Given the description of an element on the screen output the (x, y) to click on. 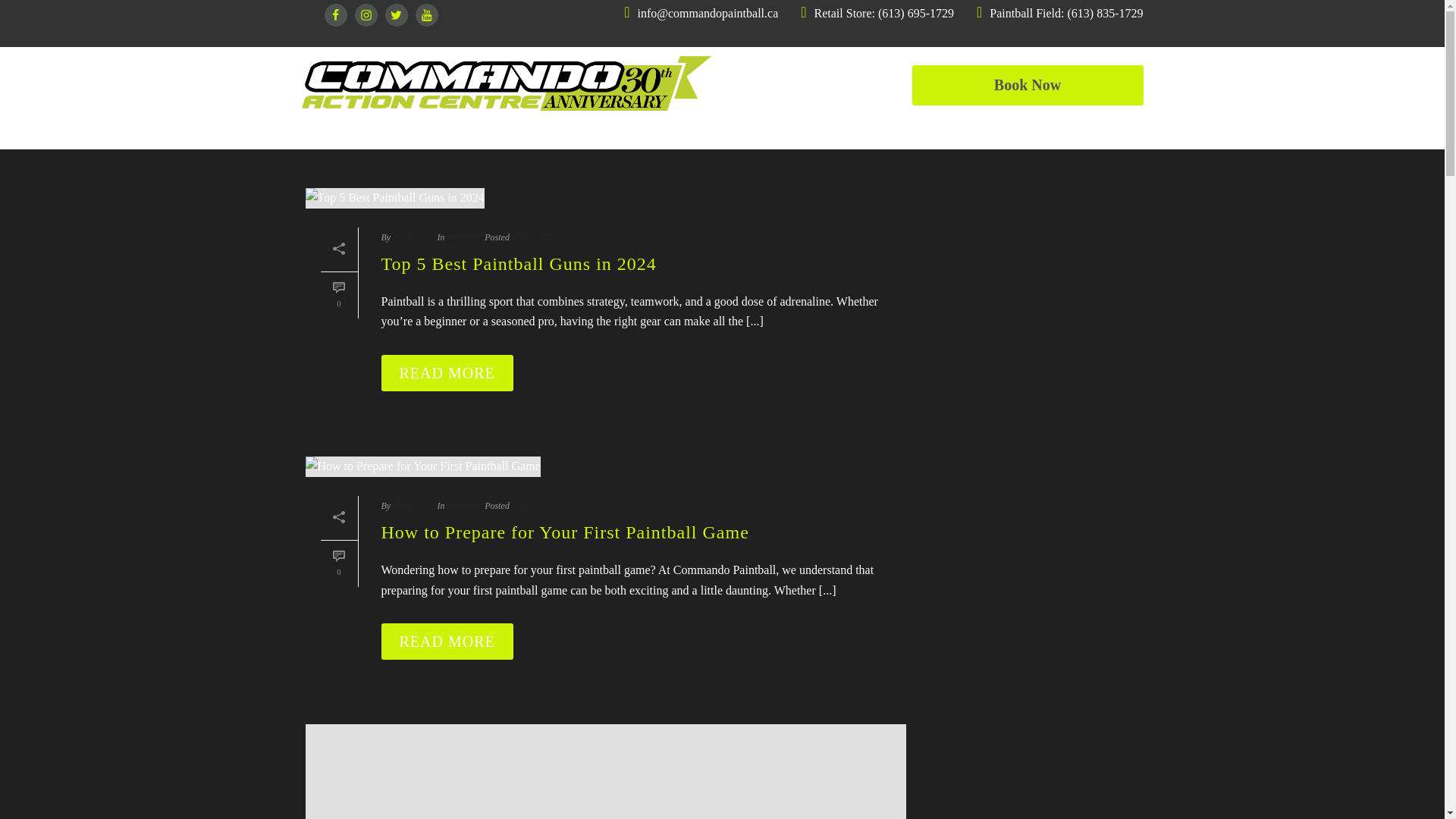
Book Now (1026, 85)
AIRSOFT (633, 131)
FIELD TOUR (969, 131)
Posts by Tyson Hinz (412, 236)
How to Prepare for Your First Paintball Game (604, 465)
RESOURCE (1103, 131)
D-DAY (851, 131)
How to Prepare for Your First Paintball Game (422, 466)
READ MORE (446, 372)
Top 5 Best Paintball Guns in 2024 (604, 197)
Top 5 Best Paintball Guns in 2024 (393, 198)
FIELD TOUR (969, 131)
BAZOOKA BALL (493, 131)
BAZOOKA BALL (493, 131)
GROUPS (746, 131)
